Given the description of an element on the screen output the (x, y) to click on. 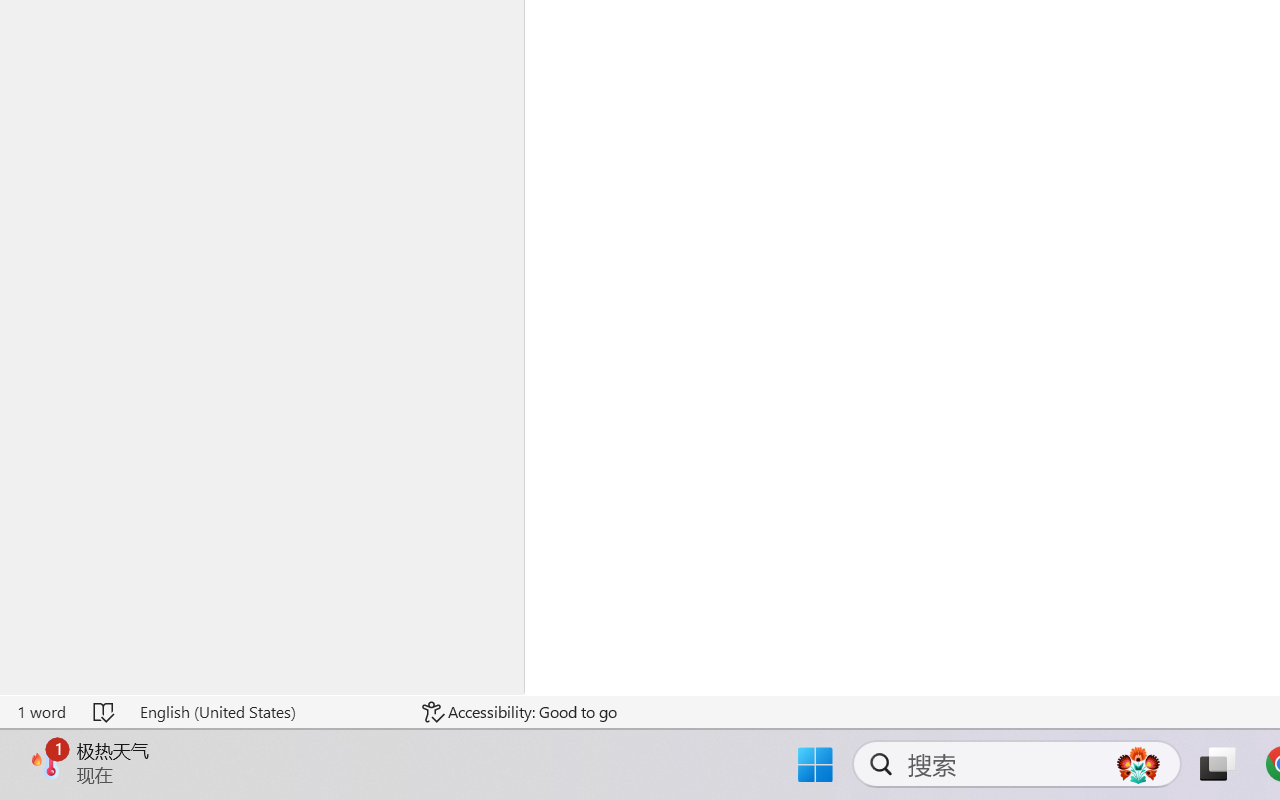
remote (17, 743)
Problems (Ctrl+Shift+M) (351, 380)
No Ports Forwarded (120, 743)
No Problems (67, 743)
Output (Ctrl+Shift+U) (421, 380)
Manage (24, 677)
Manage (24, 704)
Timeline Section (175, 718)
Debug Console (Ctrl+Shift+Y) (509, 380)
Accounts (24, 650)
Ports (667, 380)
Terminal (Ctrl+`) (602, 380)
Outline Section (175, 694)
